Given the description of an element on the screen output the (x, y) to click on. 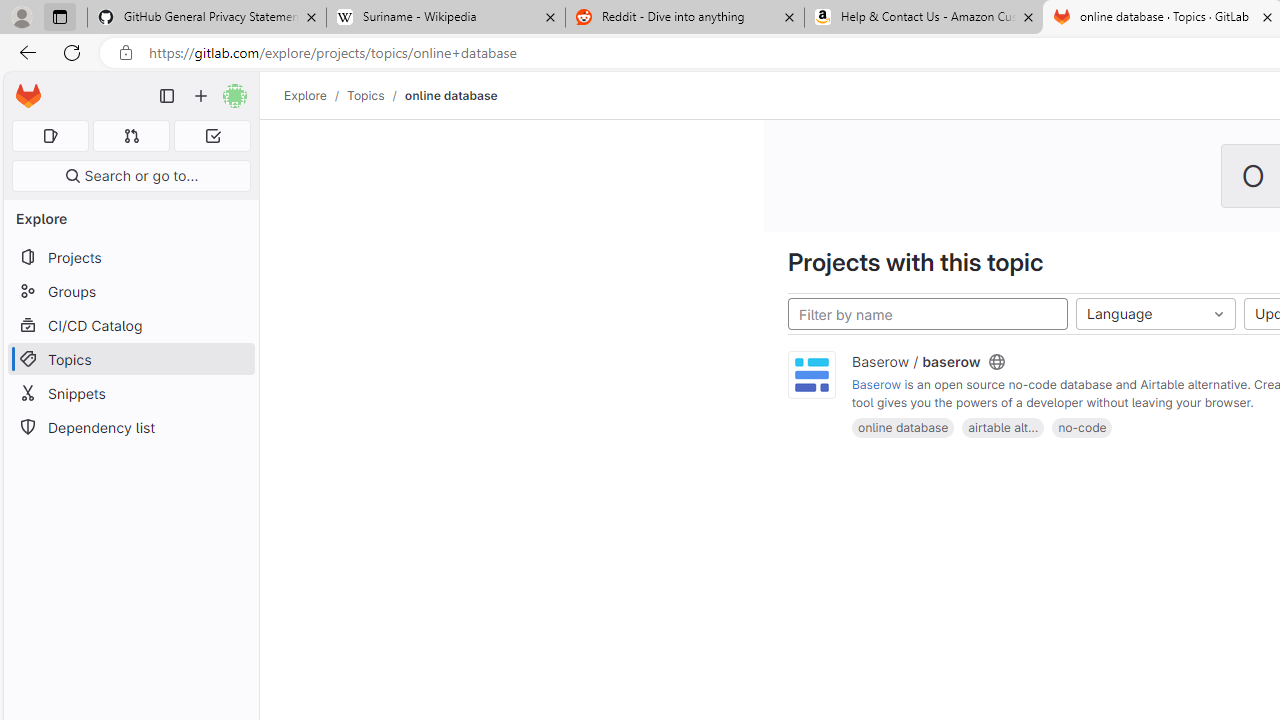
Projects (130, 257)
Baserow / baserow (916, 361)
Class: project (811, 375)
Snippets (130, 393)
online database (902, 426)
Topics/ (375, 95)
GitHub General Privacy Statement - GitHub Docs (207, 17)
Baserow (877, 385)
Skip to main content (23, 87)
Groups (130, 291)
Create new... (201, 96)
Reddit - Dive into anything (684, 17)
